Given the description of an element on the screen output the (x, y) to click on. 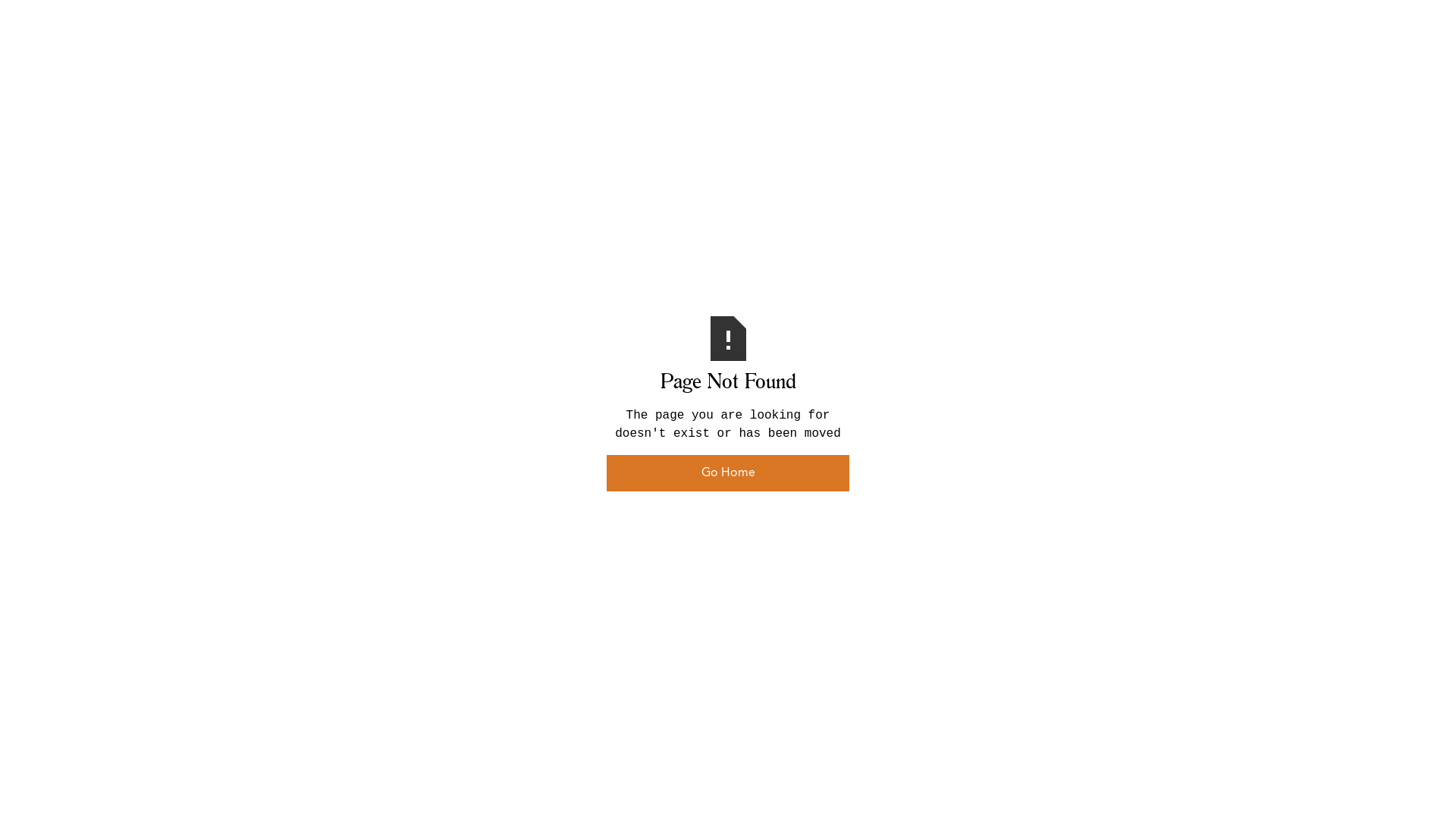
Go Home Element type: text (727, 473)
